Given the description of an element on the screen output the (x, y) to click on. 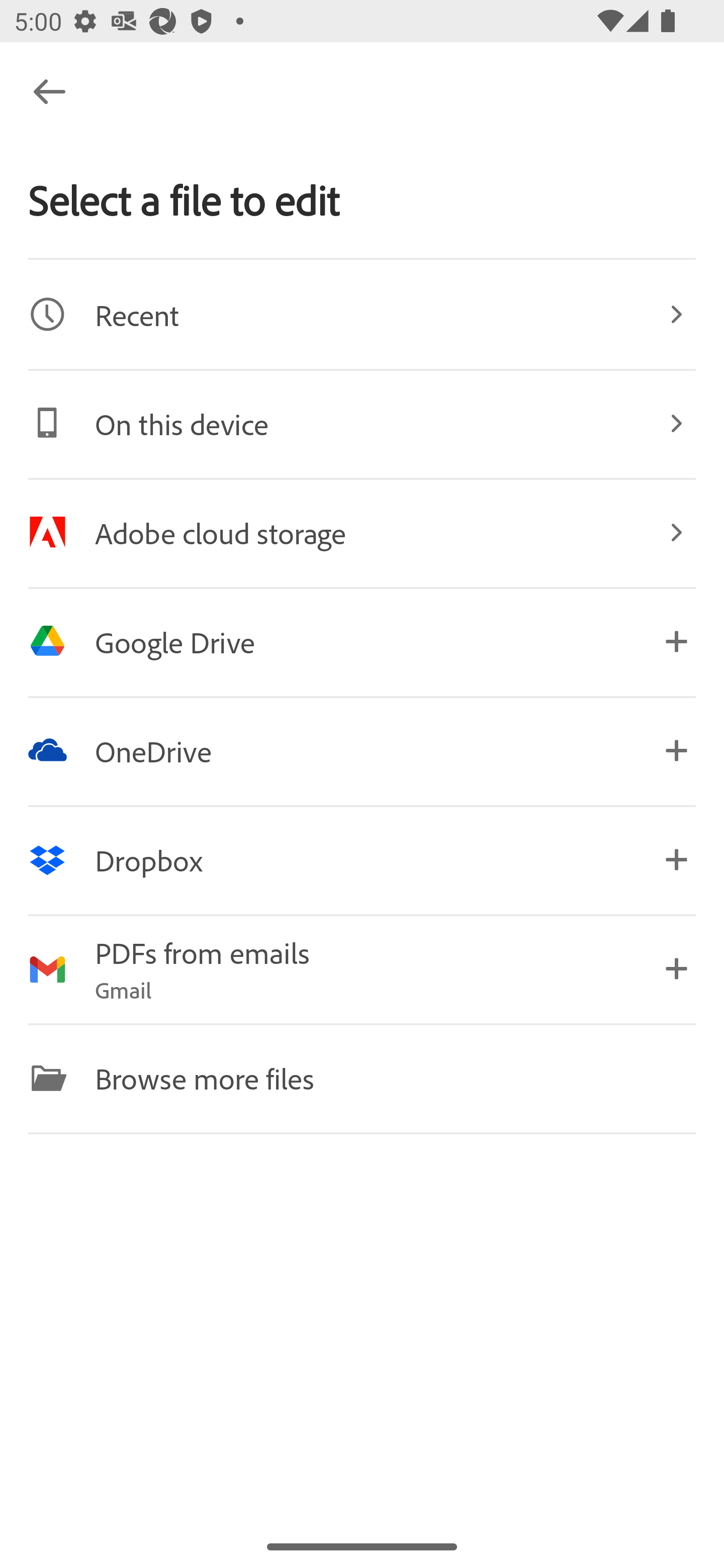
Navigate up (49, 91)
Image Recent (362, 314)
Image On this device (362, 423)
Image Adobe cloud storage (362, 532)
Image Google Drive (362, 641)
Image OneDrive (362, 750)
Image Dropbox (362, 859)
Image PDFs from emails Gmail (362, 968)
Image Browse more files (362, 1077)
